Given the description of an element on the screen output the (x, y) to click on. 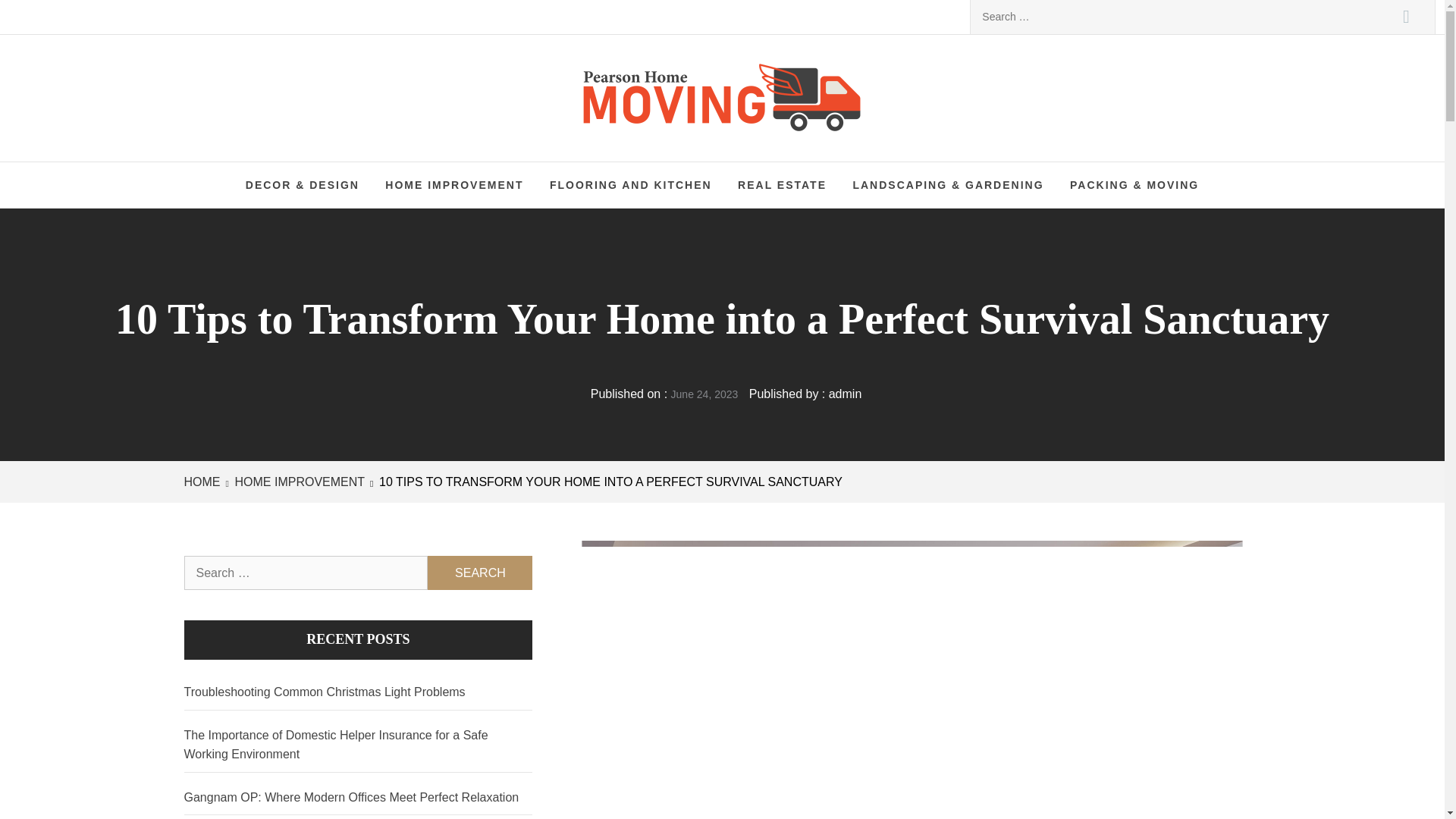
HOME (204, 481)
FLOORING AND KITCHEN (630, 185)
HOME IMPROVEMENT (454, 185)
HOME IMPROVEMENT (298, 481)
June 24, 2023 (704, 394)
admin (844, 393)
REAL ESTATE (782, 185)
Search (480, 572)
Search (1405, 17)
Search (1405, 17)
Troubleshooting Common Christmas Light Problems (357, 692)
Pearson Home Moving (800, 90)
Search (480, 572)
Gangnam OP: Where Modern Offices Meet Perfect Relaxation (357, 797)
